Given the description of an element on the screen output the (x, y) to click on. 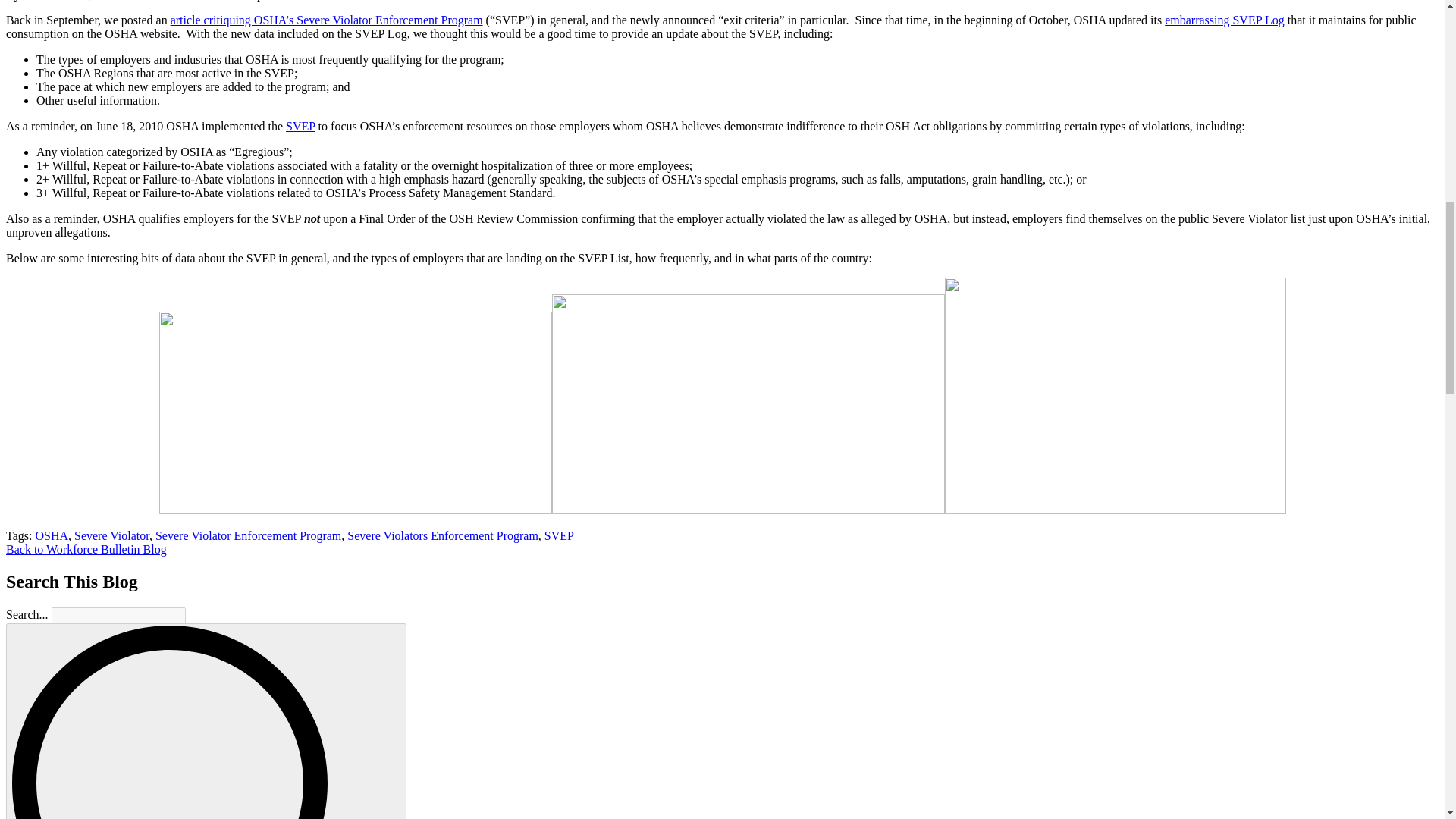
SVEP (558, 535)
Eric J. Conn (55, 0)
Search (205, 721)
embarrassing SVEP Log (1224, 19)
SVEP (300, 125)
Search (205, 722)
Back to Workforce Bulletin Blog (86, 549)
Severe Violator Enforcement Program (247, 535)
Severe Violators Enforcement Program (442, 535)
Severe Violator (111, 535)
OSHA (51, 535)
